Given the description of an element on the screen output the (x, y) to click on. 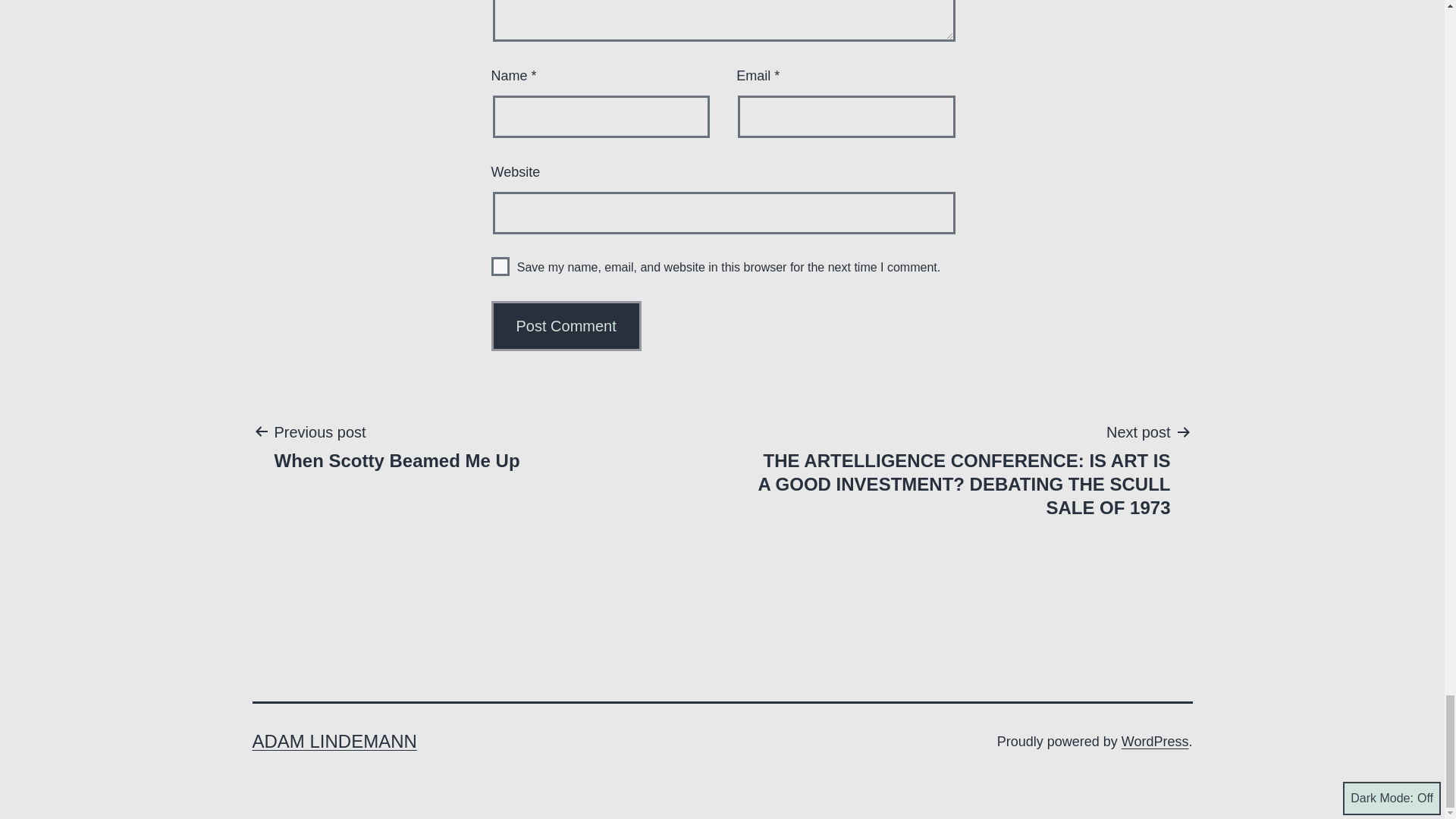
Post Comment (567, 326)
Post Comment (567, 326)
ADAM LINDEMANN (333, 741)
yes (500, 266)
WordPress (396, 445)
